Given the description of an element on the screen output the (x, y) to click on. 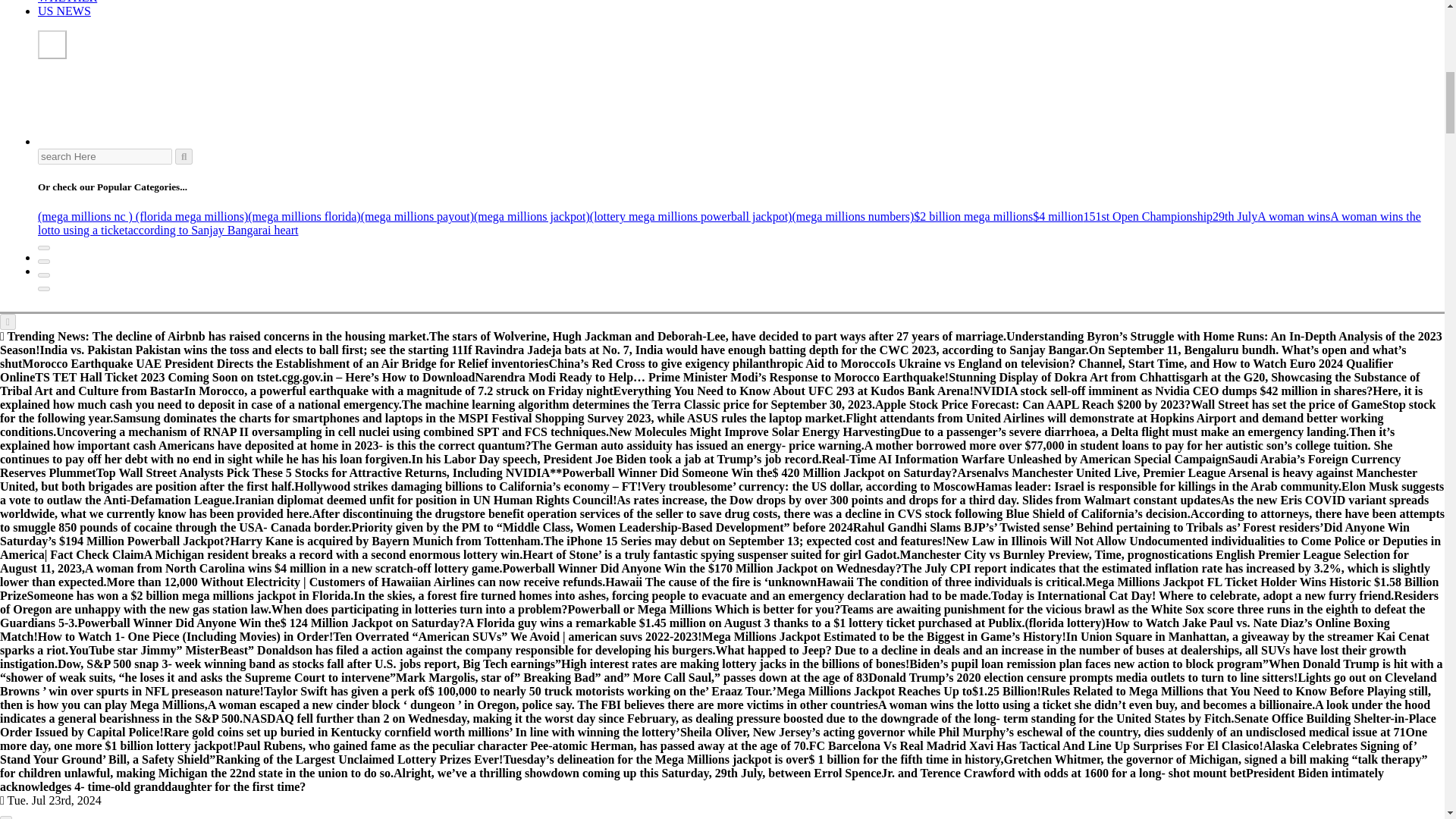
US NEWS (63, 10)
according to Sanjay Bangar (195, 229)
US NEWS (63, 10)
ai heart (280, 229)
151st Open Championship (1147, 215)
WHETHER (67, 2)
29th July (1234, 215)
WHETHER (67, 2)
A woman wins the lotto using a ticket (729, 222)
A woman wins (1293, 215)
